Given the description of an element on the screen output the (x, y) to click on. 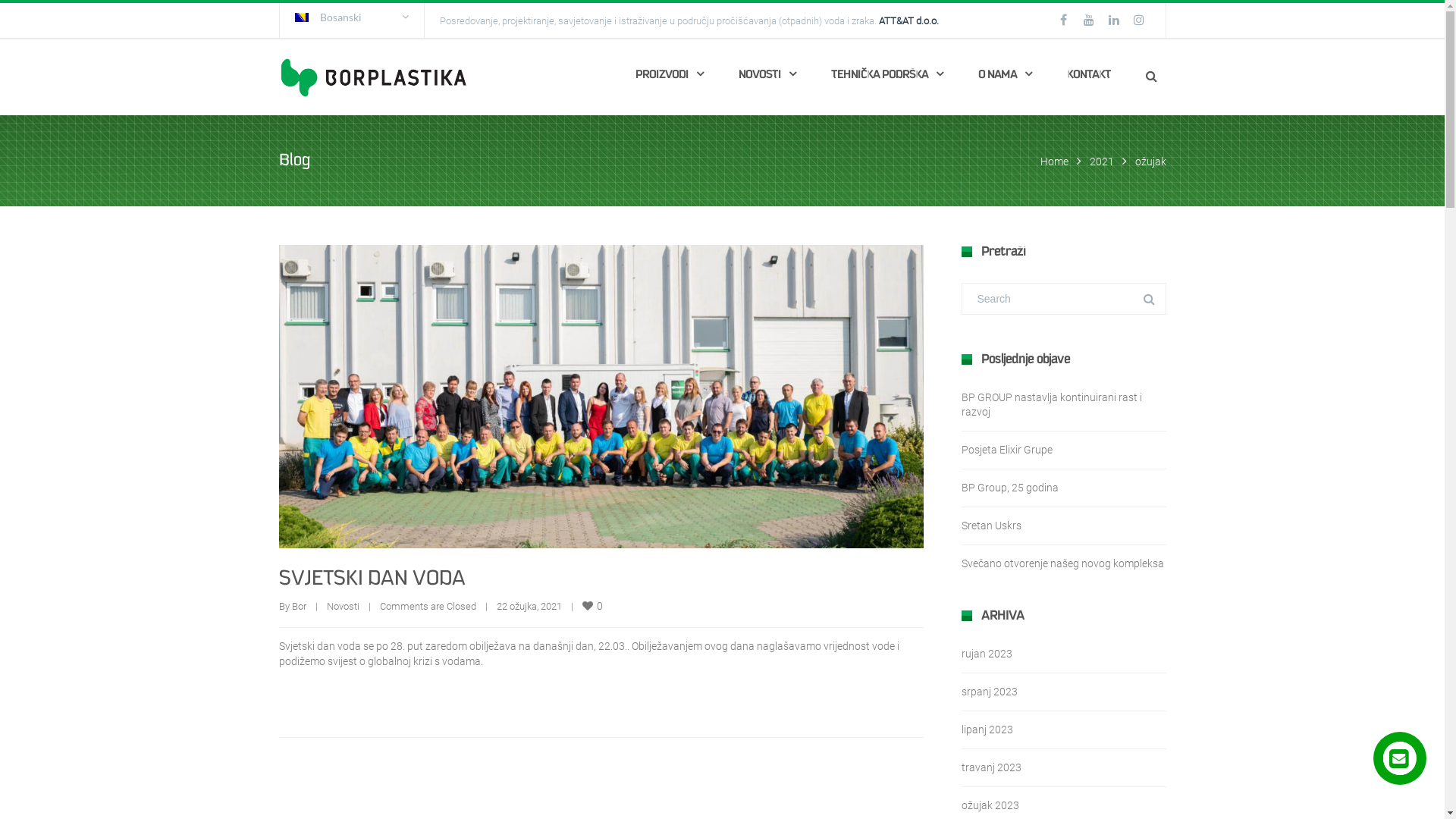
Bor Plastika Element type: hover (373, 77)
Posjeta Elixir Grupe Element type: text (1006, 449)
ATT&AT d.o.o. Element type: text (908, 20)
2021 Element type: text (1100, 161)
Novosti Element type: text (342, 605)
0  Element type: text (593, 605)
SVJETSKI DAN VODA Element type: text (372, 578)
lipanj 2023 Element type: text (987, 729)
rujan 2023 Element type: text (986, 653)
Bosanski Element type: text (351, 17)
Bor Element type: text (298, 605)
srpanj 2023 Element type: text (989, 691)
Home Element type: text (1054, 161)
Sretan Uskrs Element type: text (991, 525)
NOVOSTI Element type: text (766, 77)
PROIZVODI Element type: text (668, 77)
BP Group, 25 godina Element type: text (1009, 487)
O NAMA Element type: text (1004, 77)
BP GROUP nastavlja kontinuirani rast i razvoj Element type: text (1051, 404)
KONTAKT Element type: text (1088, 77)
travanj 2023 Element type: text (991, 767)
